Given the description of an element on the screen output the (x, y) to click on. 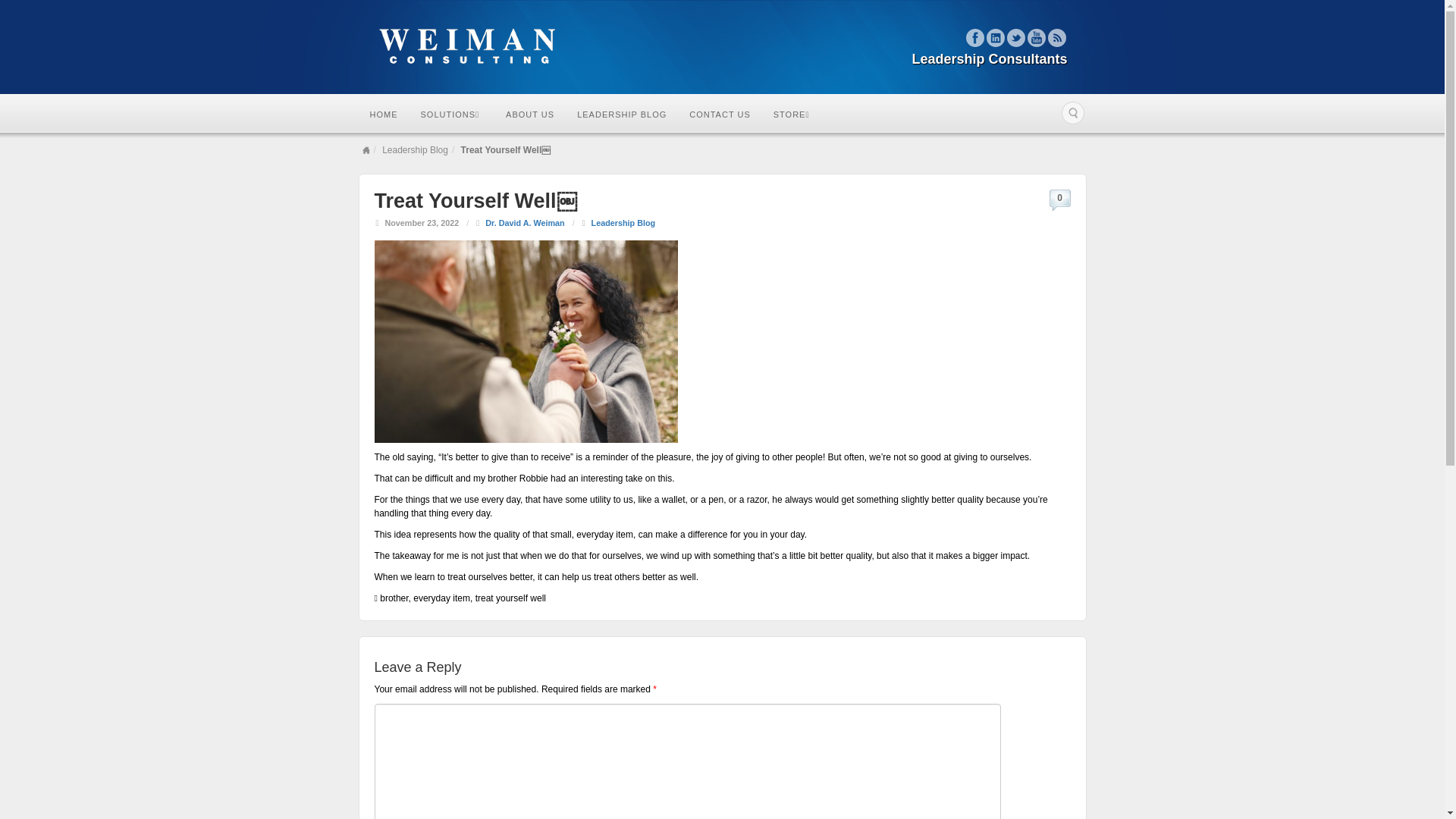
ABOUT US (530, 113)
YouTube (1035, 37)
LEADERSHIP BLOG (622, 113)
Twitter (1016, 37)
YouTube (1035, 37)
Twitter (1016, 37)
treat yourself well (511, 598)
Dr. David A. Weiman (524, 222)
Linkedin (994, 37)
Linkedin (994, 37)
